Given the description of an element on the screen output the (x, y) to click on. 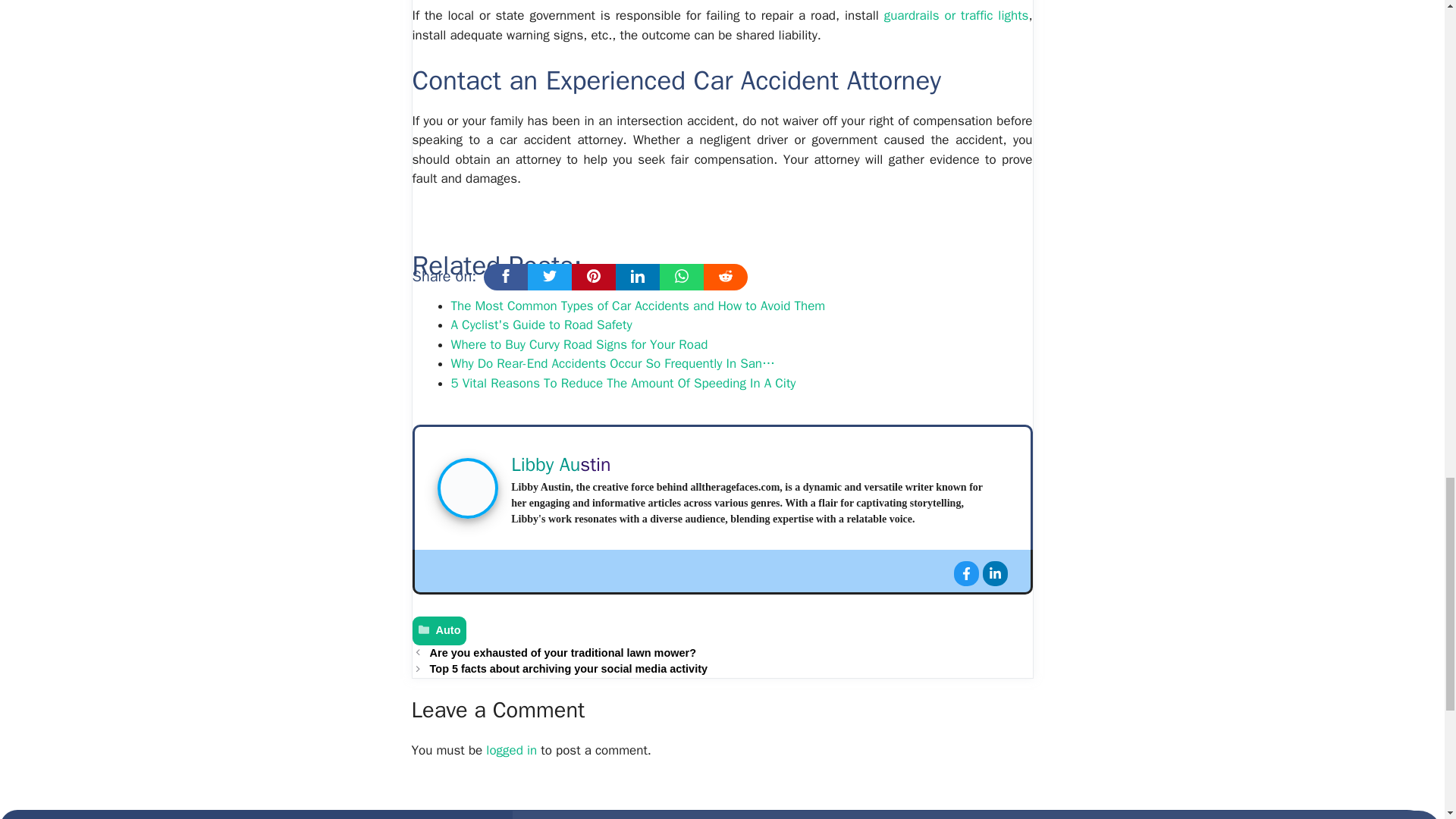
guardrails or traffic lights (956, 15)
A Cyclist's Guide to Road Safety (540, 324)
The Most Common Types of Car Accidents and How to Avoid Them (637, 305)
Where to Buy Curvy Road Signs for Your Road (578, 344)
